Given the description of an element on the screen output the (x, y) to click on. 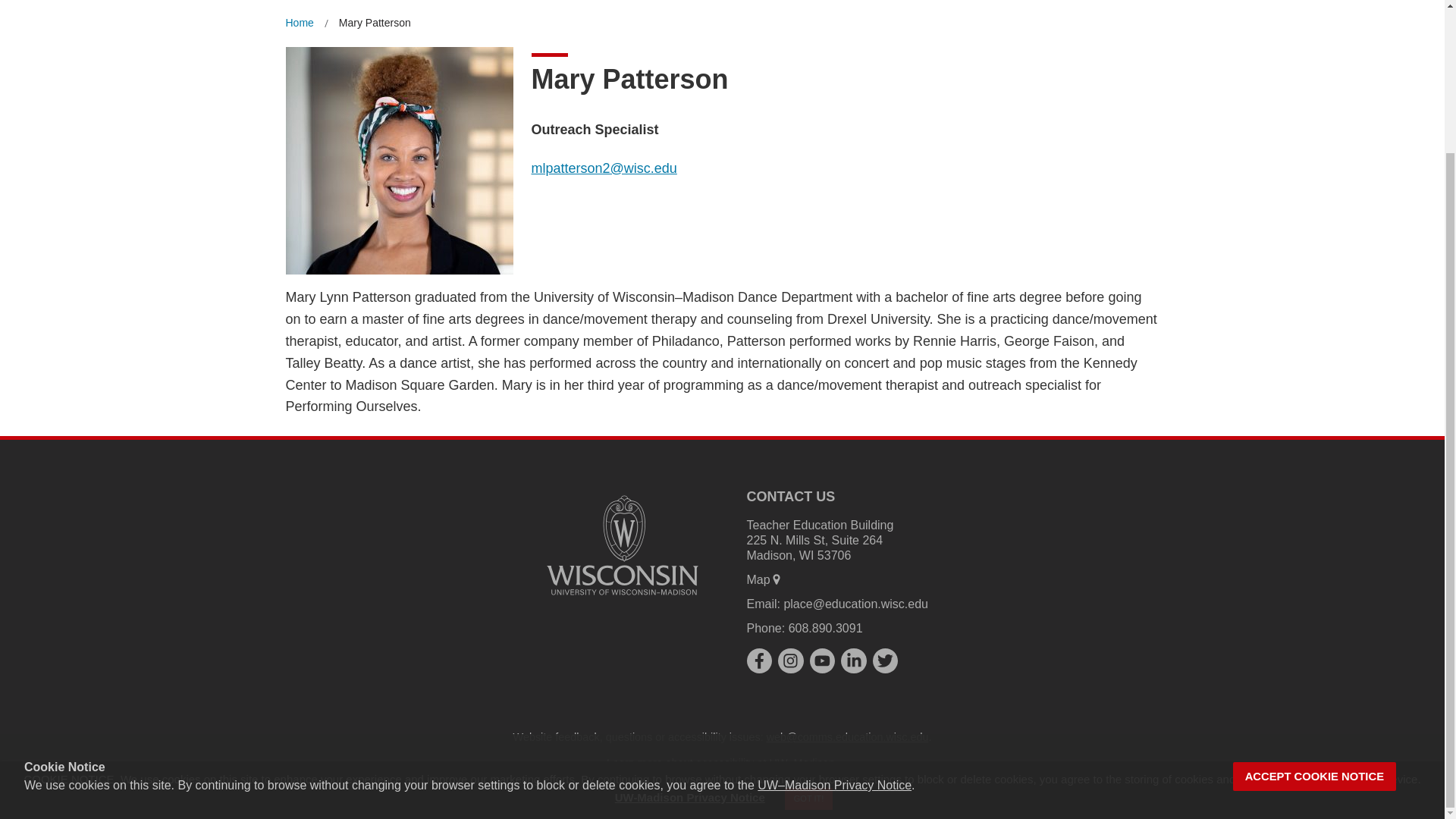
Home (299, 23)
University logo that links to main university website (621, 597)
University logo that links to main university website (621, 544)
Privacy Notice (662, 787)
facebook (759, 660)
Mary Patterson (374, 23)
608.890.3091 (826, 627)
facebook (758, 661)
twitter (885, 661)
instagram (790, 661)
University of Wisconsin System. (939, 787)
linkedin (853, 661)
GOT IT! (808, 621)
youtube (821, 660)
UW Theme (590, 787)
